Given the description of an element on the screen output the (x, y) to click on. 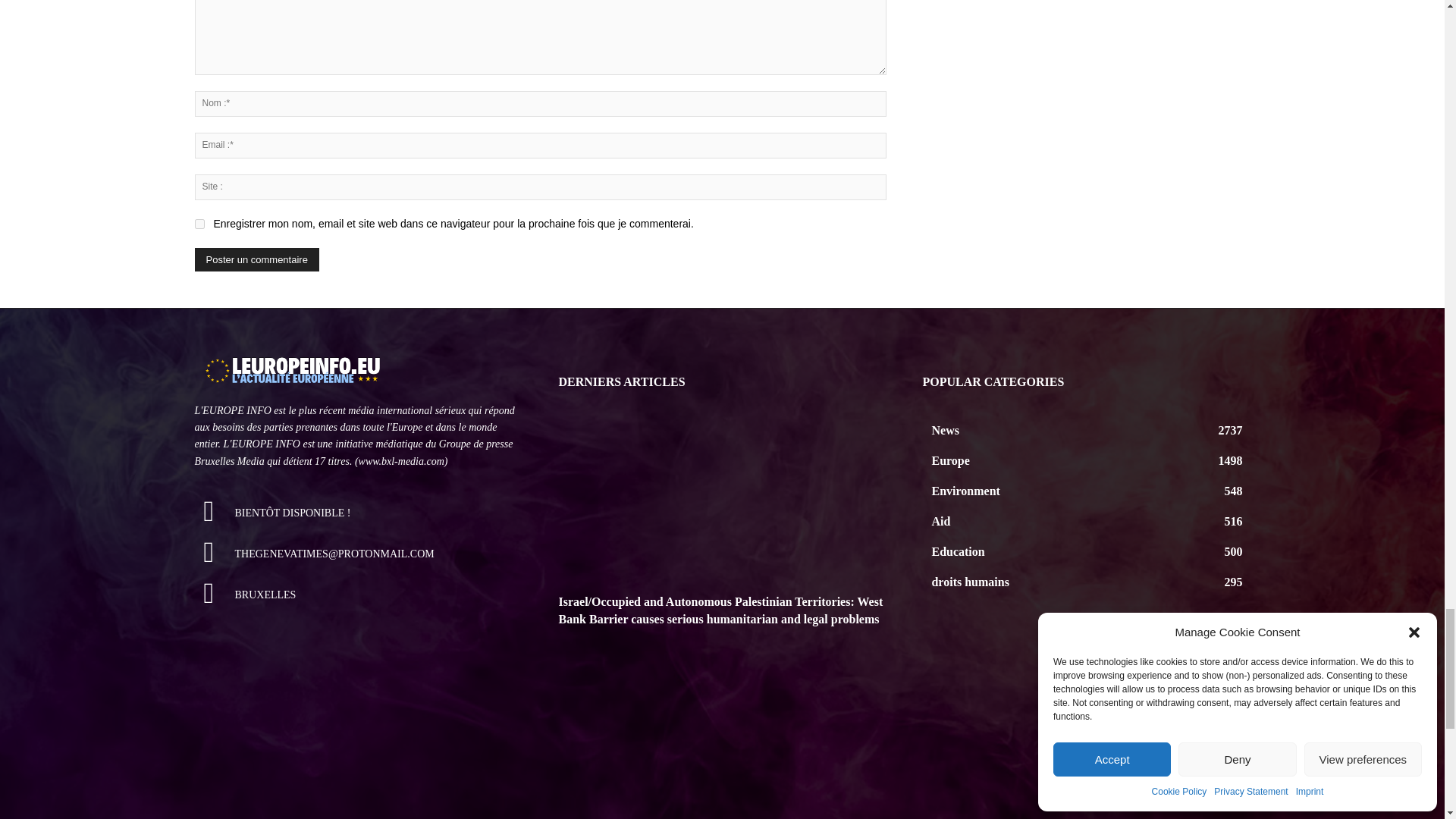
yes (198, 224)
Poster un commentaire (255, 259)
